Given the description of an element on the screen output the (x, y) to click on. 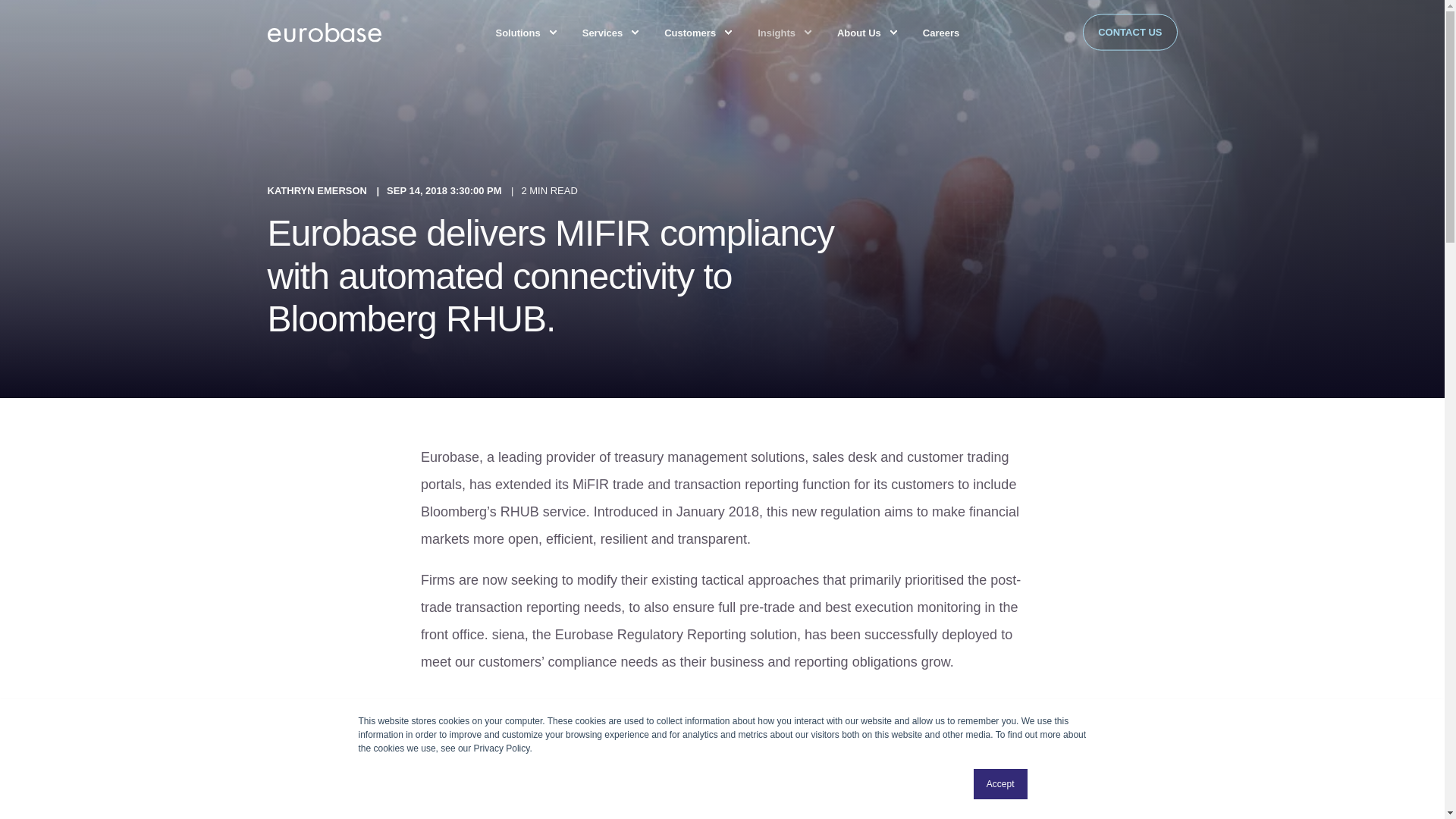
Button Contact Us (1129, 31)
Solutions (519, 32)
Accept (1000, 784)
